Given the description of an element on the screen output the (x, y) to click on. 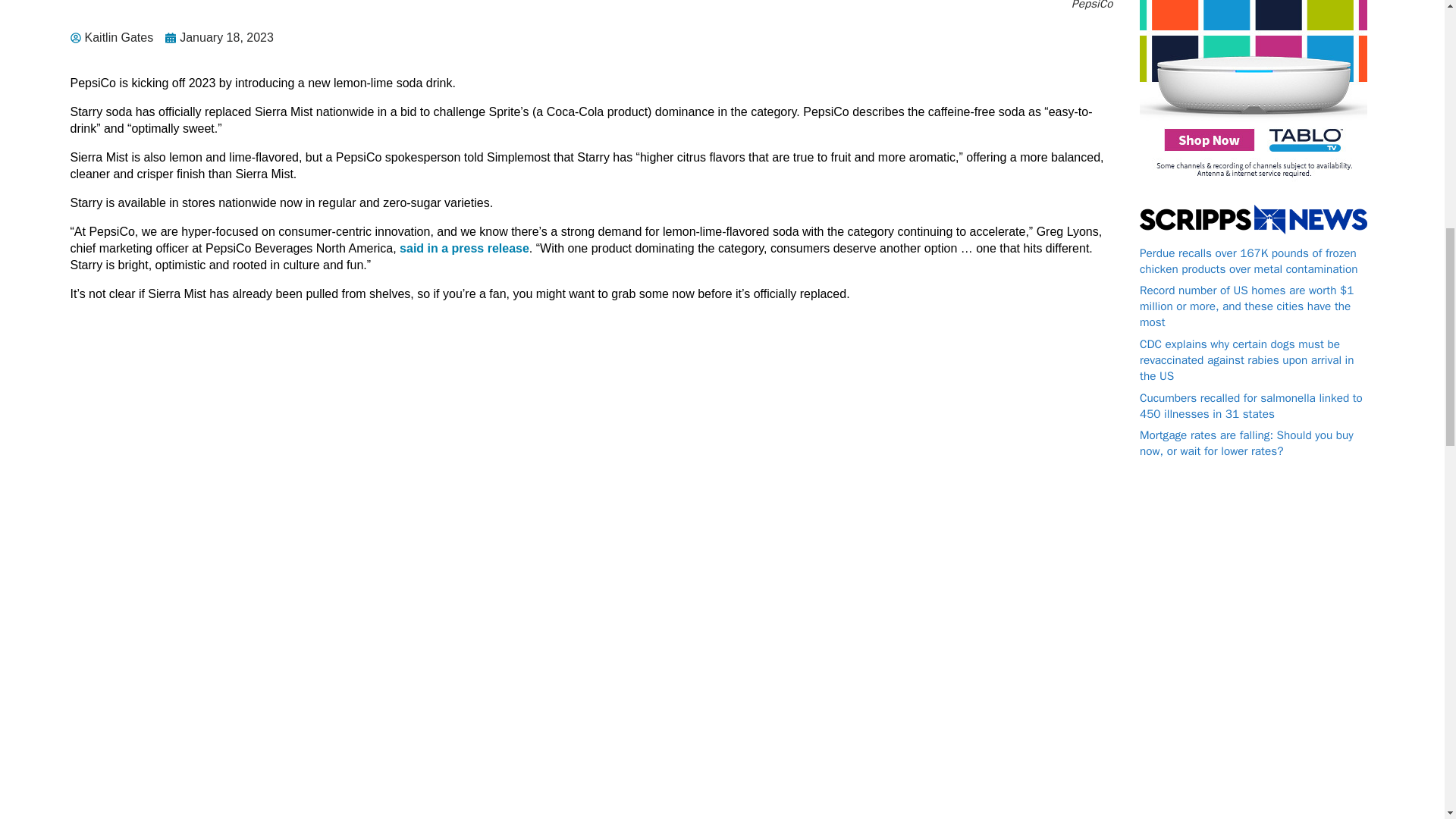
Scroll back to top (1406, 720)
January 18, 2023 (224, 37)
said in a press release (463, 247)
Kaitlin Gates (116, 37)
Kaitlin Gates (116, 37)
